Given the description of an element on the screen output the (x, y) to click on. 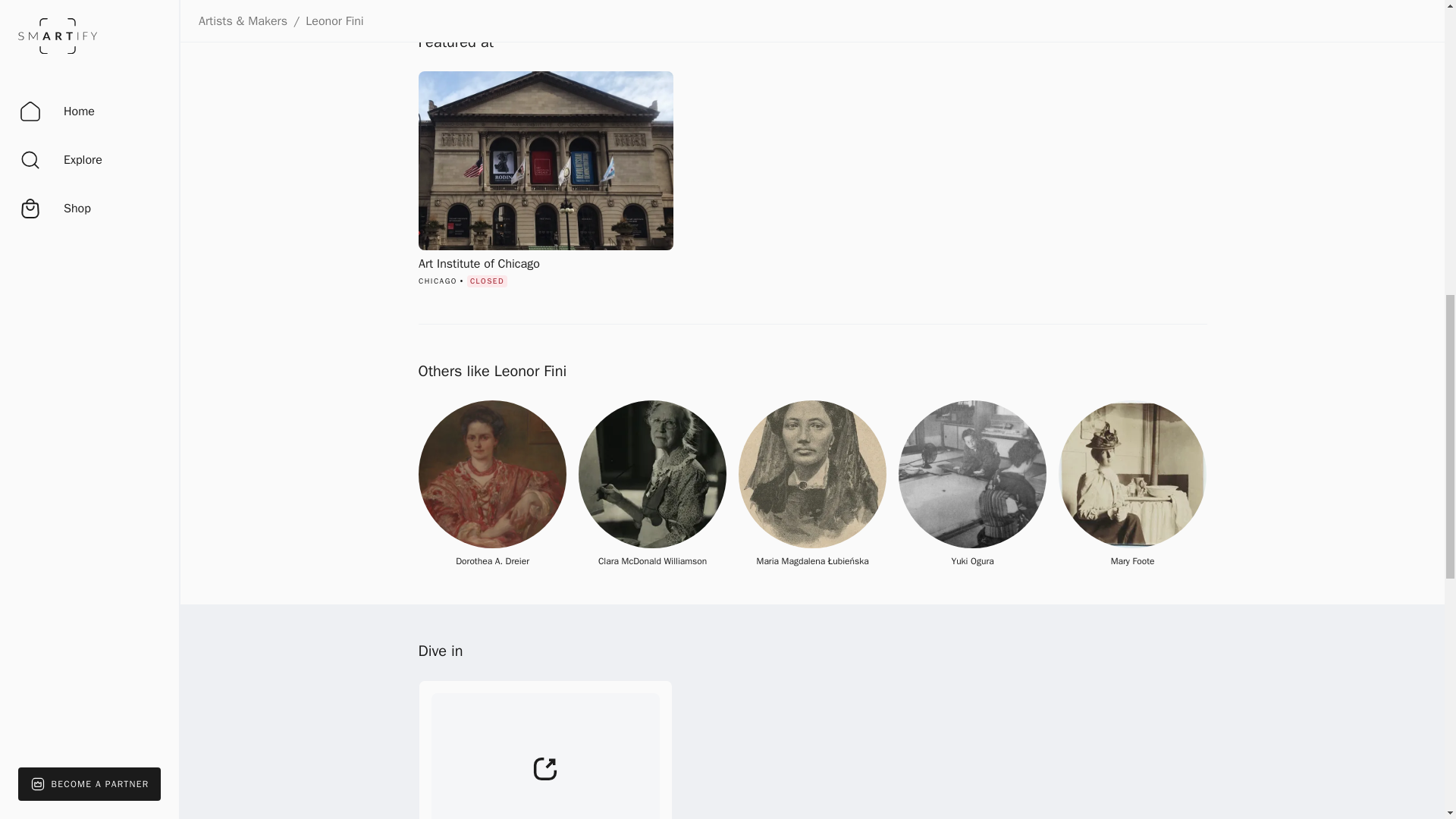
Discover more from Wikipedia (545, 749)
